Given the description of an element on the screen output the (x, y) to click on. 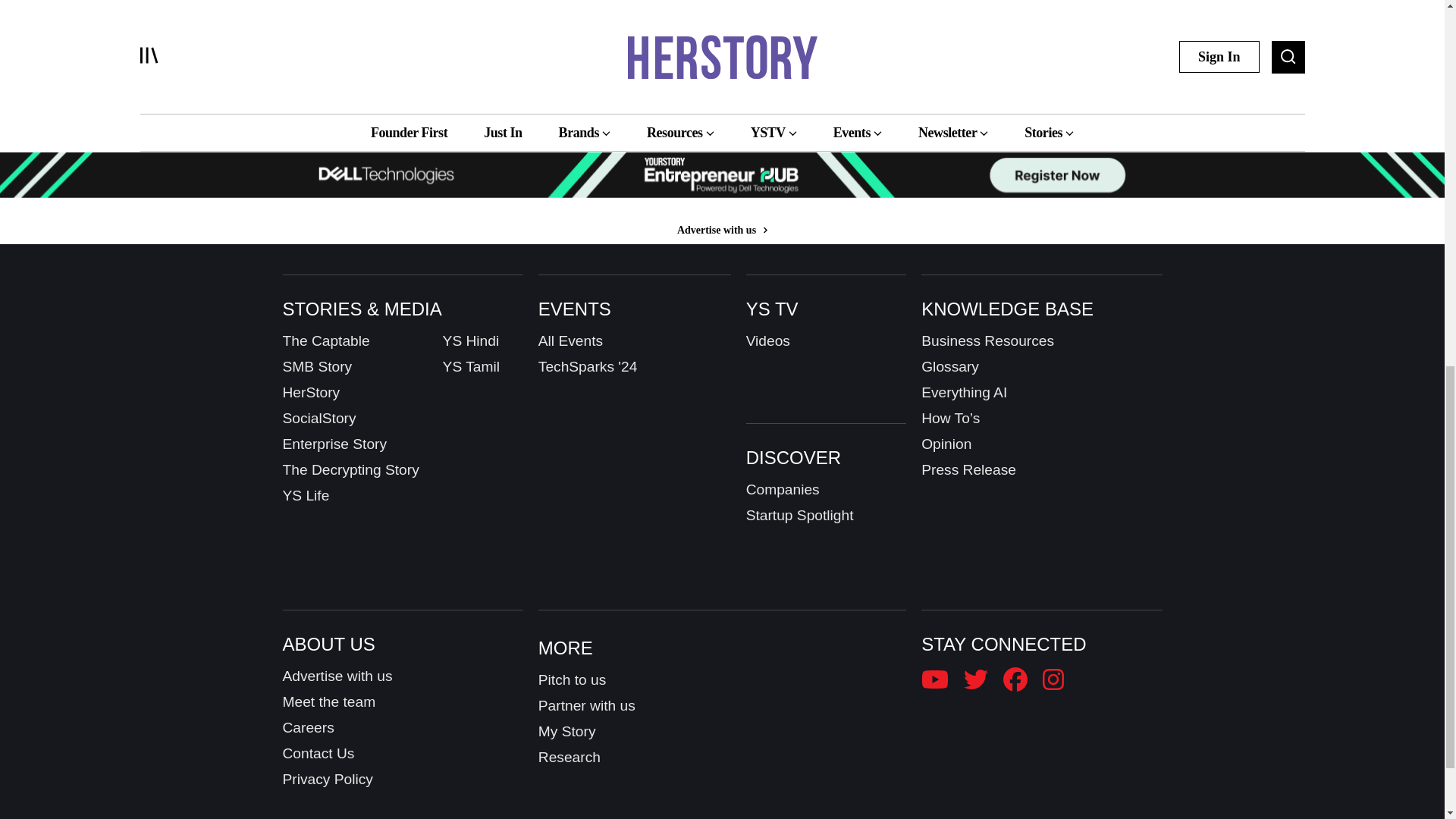
YourStory TV (369, 2)
Best of YourStory video interviews, stories, and series (436, 15)
YourStory TV (721, 11)
Advertise with us (721, 229)
